Given the description of an element on the screen output the (x, y) to click on. 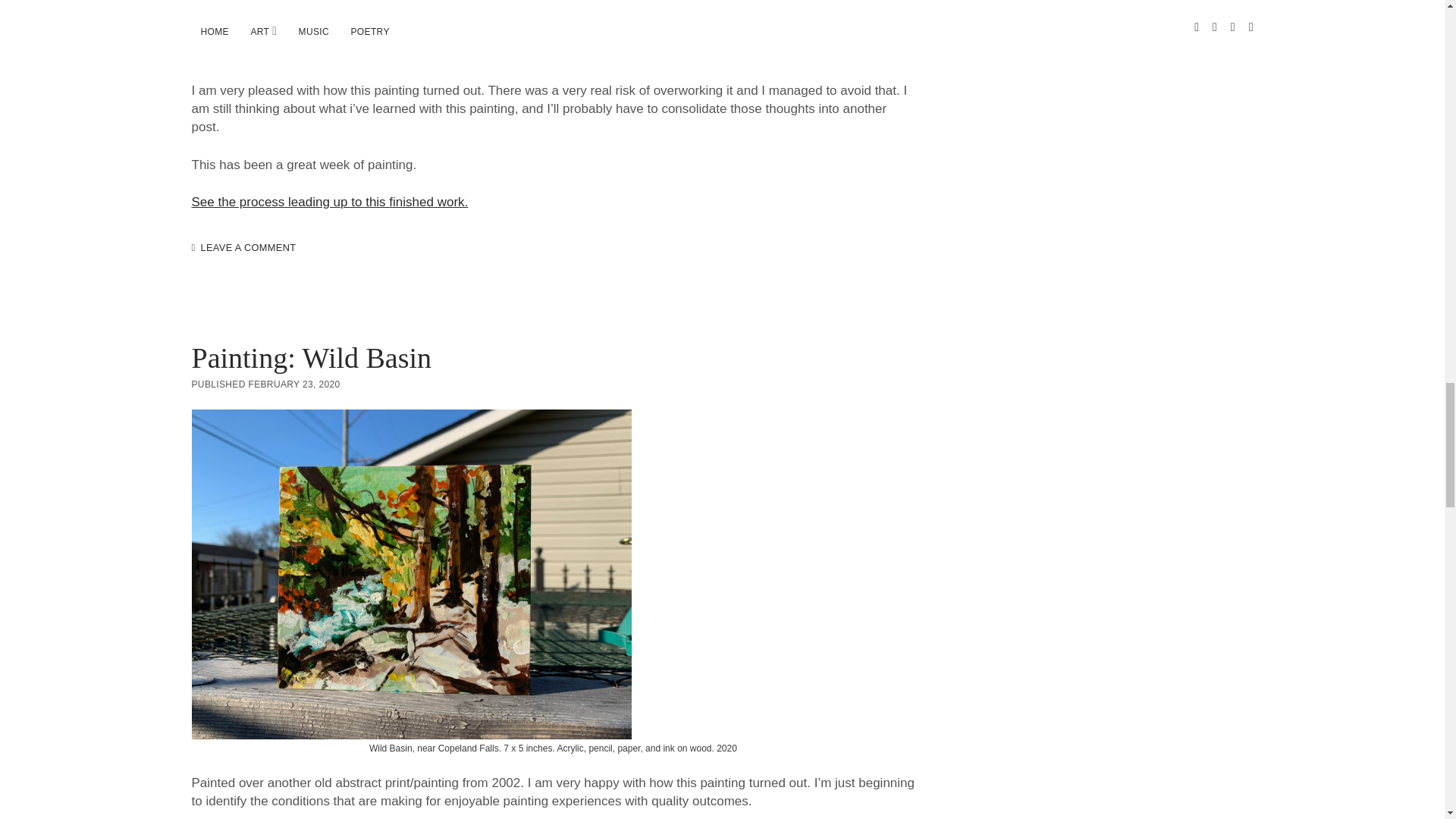
LEAVE A COMMENT (247, 247)
Painting: Wild Basin (310, 357)
See the process leading up to this finished work. (328, 201)
comment icon (192, 248)
